Given the description of an element on the screen output the (x, y) to click on. 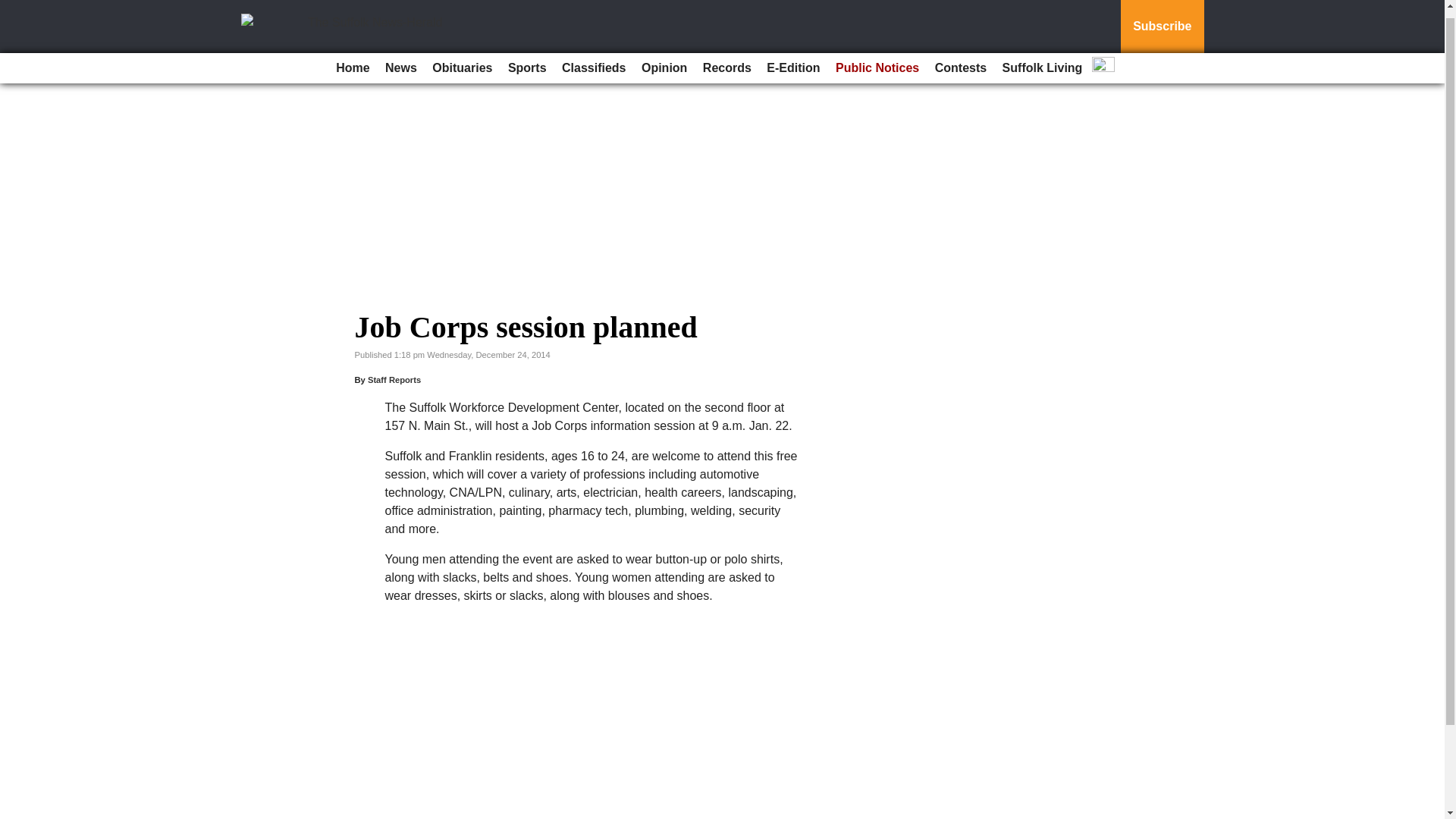
Sports (527, 60)
Public Notices (876, 60)
Obituaries (461, 60)
Classifieds (593, 60)
Opinion (663, 60)
Go (13, 4)
Home (352, 60)
Subscribe (1162, 22)
E-Edition (792, 60)
News (400, 60)
